Given the description of an element on the screen output the (x, y) to click on. 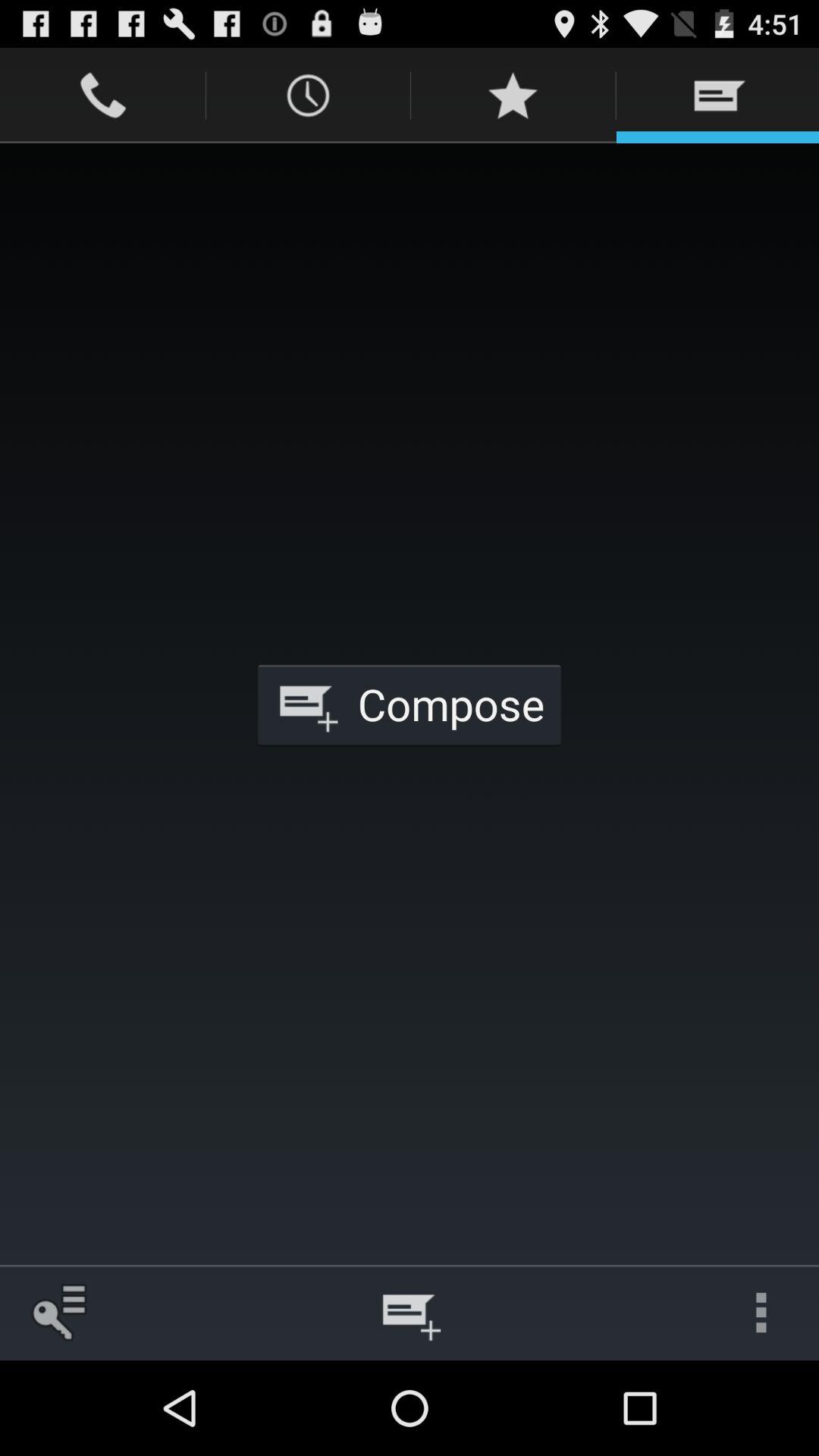
turn on the icon at the bottom right corner (760, 1312)
